Given the description of an element on the screen output the (x, y) to click on. 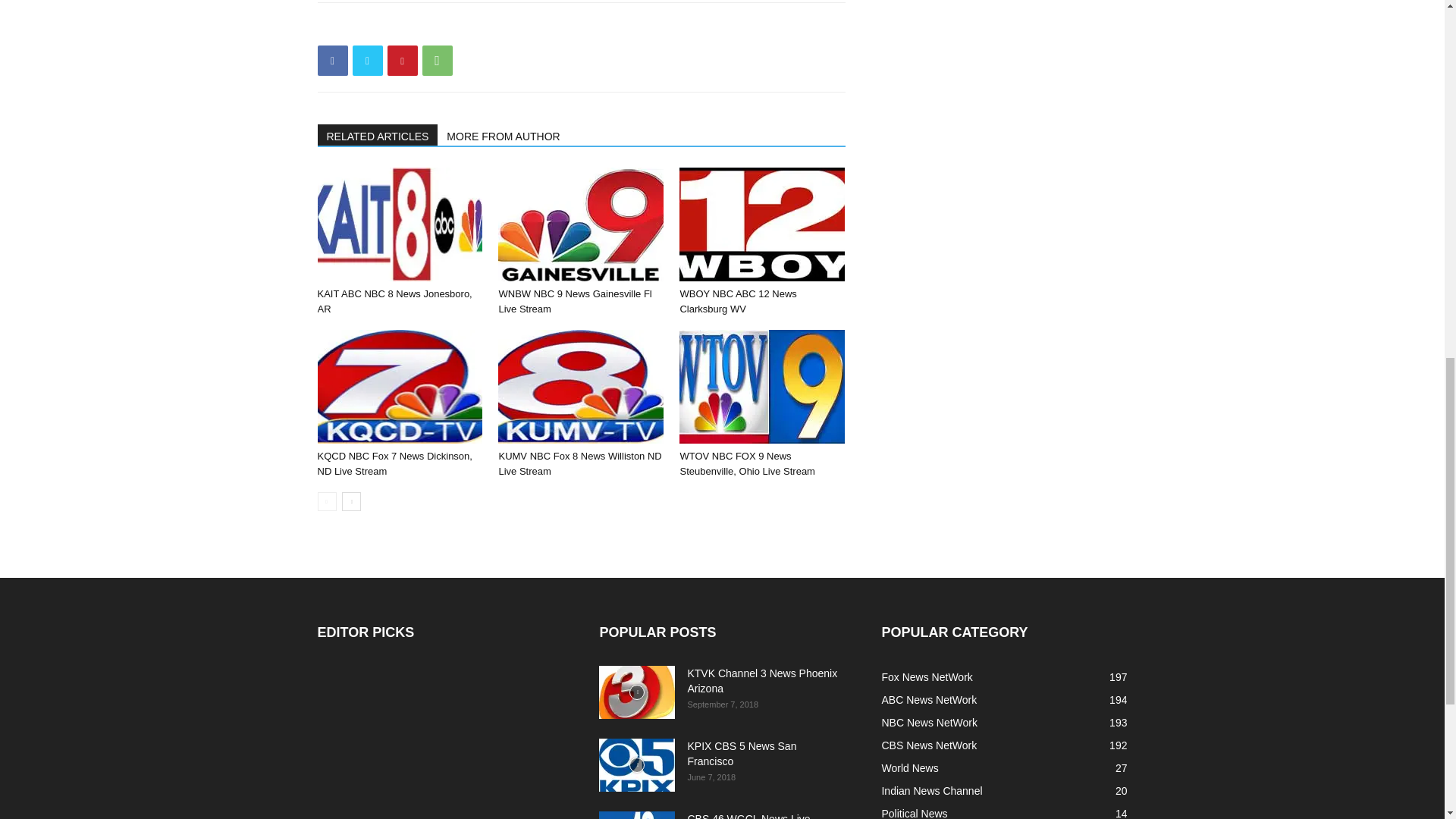
KAIT ABC NBC 8 News Jonesboro, AR (394, 301)
Twitter (366, 60)
bottomFacebookLike (430, 26)
MORE FROM AUTHOR (503, 134)
Pinterest (401, 60)
RELATED ARTICLES (377, 134)
Facebook (332, 60)
KAIT ABC NBC 8 News Jonesboro, AR (399, 224)
WhatsApp (436, 60)
